Given the description of an element on the screen output the (x, y) to click on. 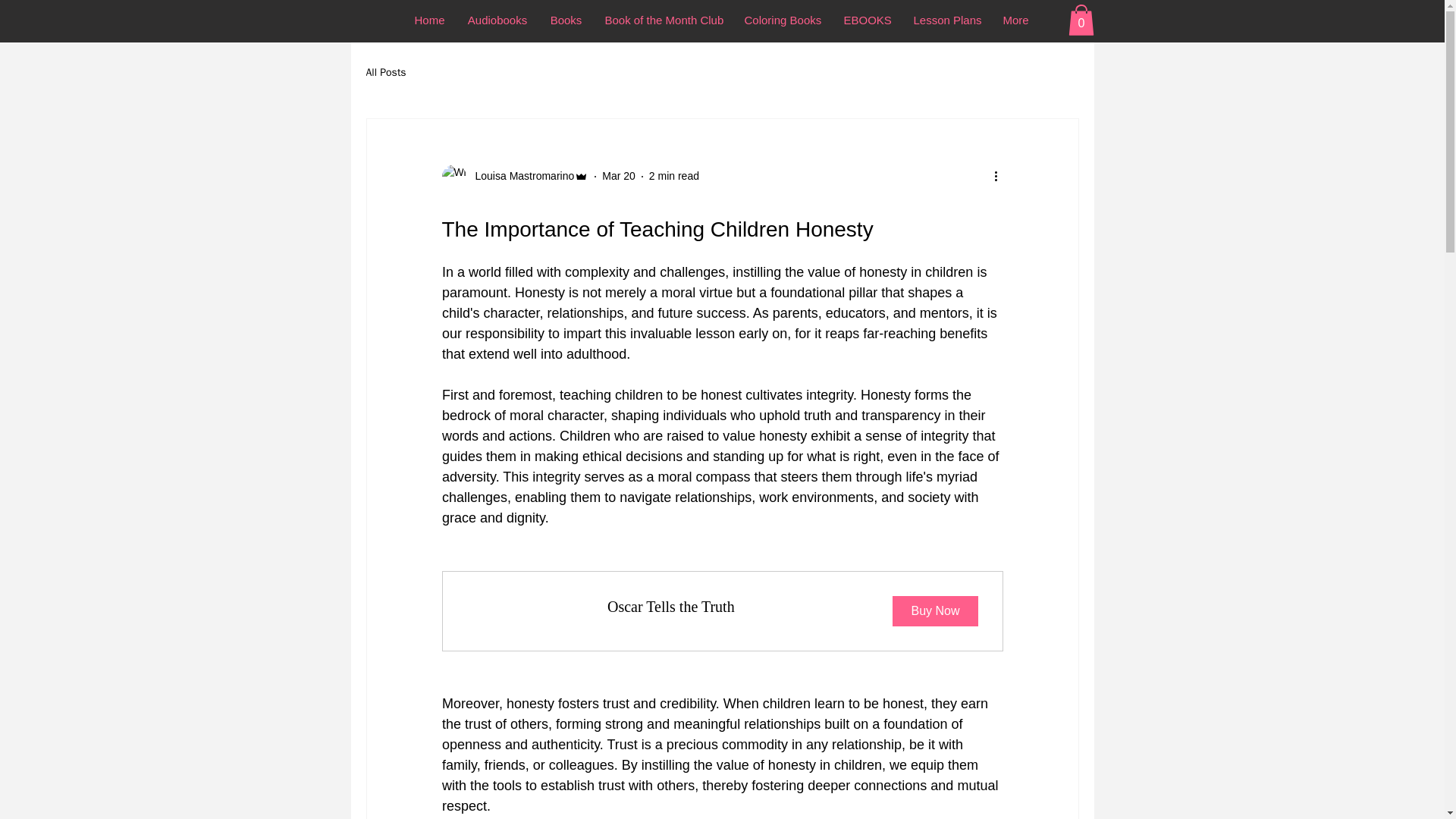
Book of the Month Club (662, 20)
Home (430, 20)
All Posts (385, 72)
EBOOKS (867, 20)
Books (565, 20)
2 min read (673, 175)
Louisa Mastromarino (519, 176)
Lesson Plans (946, 20)
Coloring Books (781, 20)
Audiobooks (497, 20)
Mar 20 (618, 175)
Louisa Mastromarino (722, 610)
